Given the description of an element on the screen output the (x, y) to click on. 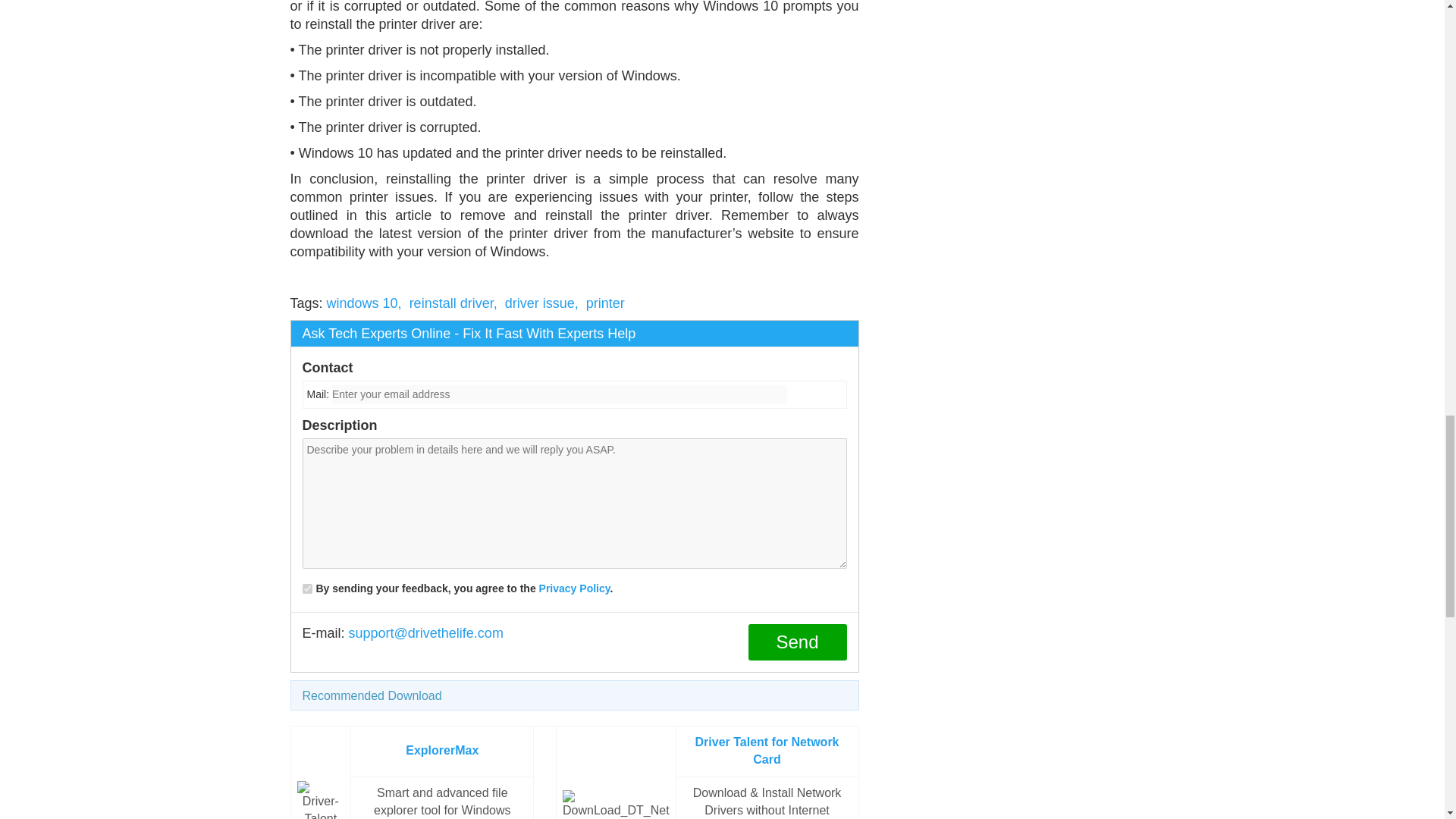
reinstall driver, (453, 303)
ExplorerMax (442, 749)
windows 10, (363, 303)
Driver Talent for Network Card (767, 750)
on (306, 588)
Privacy Policy (574, 588)
printer (605, 303)
driver issue, (541, 303)
Send (796, 642)
Privacy Policy (574, 588)
